Given the description of an element on the screen output the (x, y) to click on. 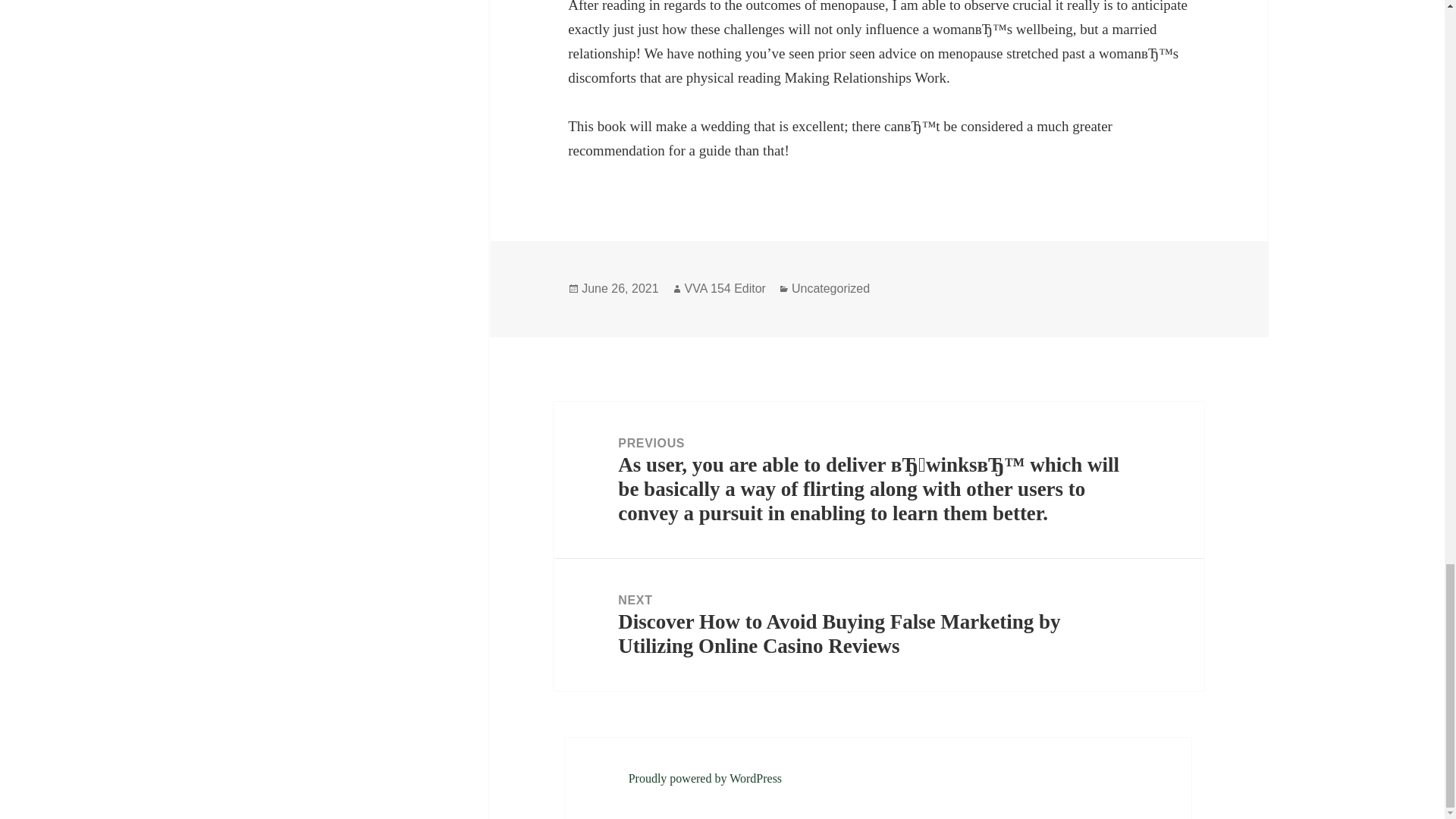
VVA 154 Editor (724, 288)
Proudly powered by WordPress (704, 778)
June 26, 2021 (619, 288)
